Given the description of an element on the screen output the (x, y) to click on. 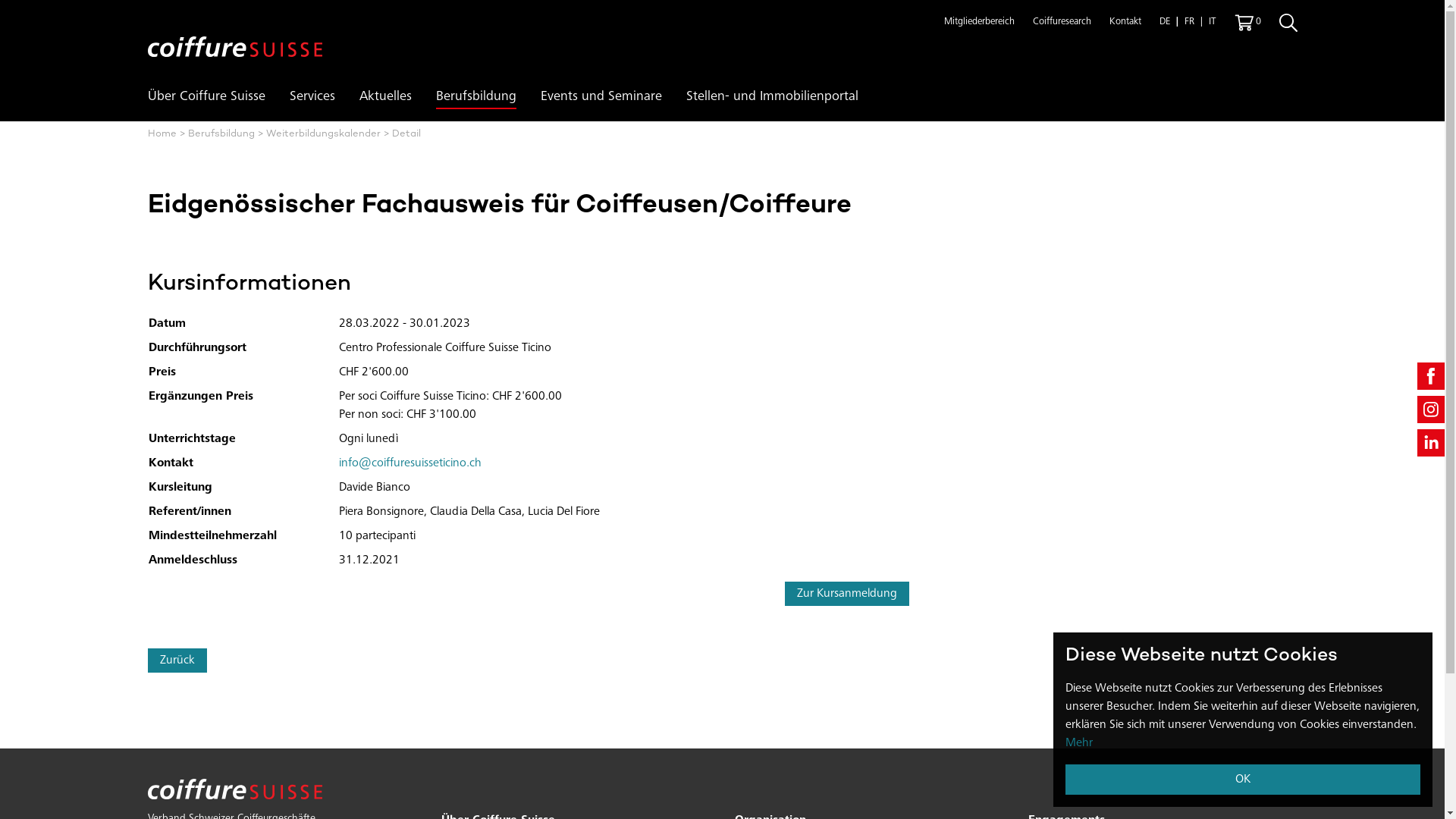
0 Element type: text (1246, 22)
Mitgliederbereich Element type: text (978, 22)
OK Element type: text (1242, 779)
IT Element type: text (1211, 22)
Mehr Element type: text (1078, 743)
Kontakt Element type: text (1124, 22)
Coiffuresearch Element type: text (1061, 22)
FR Element type: text (1189, 22)
Zur Kursanmeldung Element type: text (846, 593)
info@coiffuresuisseticino.ch Element type: text (409, 463)
DE Element type: text (1163, 22)
